Given the description of an element on the screen output the (x, y) to click on. 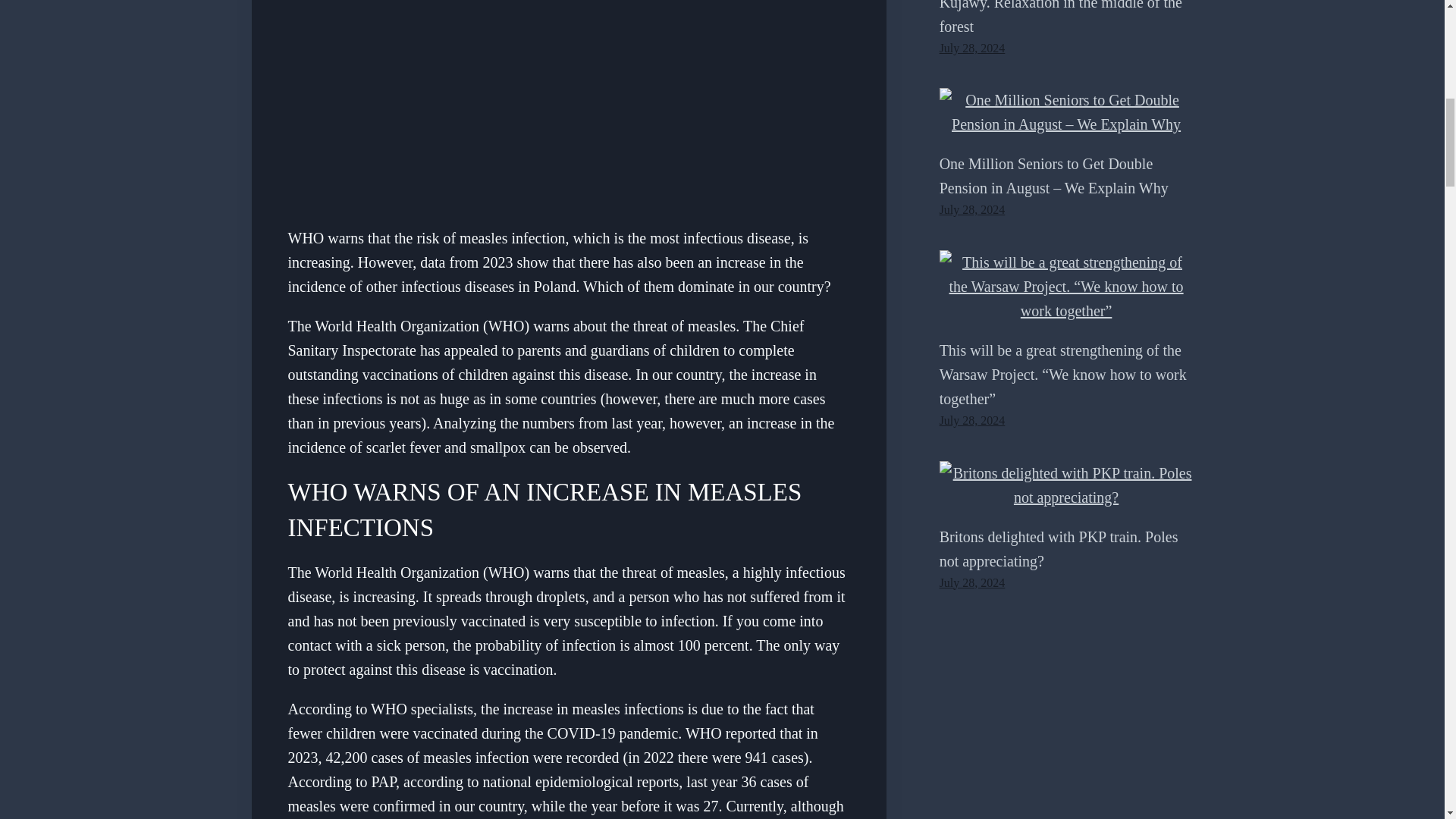
Britons delighted with PKP train. Poles not appreciating? (1066, 485)
3:26 am (972, 420)
7:26 am (972, 209)
2:26 am (972, 582)
July 28, 2024 (972, 209)
Britons delighted with PKP train. Poles not appreciating? (1058, 548)
July 28, 2024 (972, 582)
July 28, 2024 (972, 420)
July 28, 2024 (972, 47)
11:26 am (972, 47)
